Given the description of an element on the screen output the (x, y) to click on. 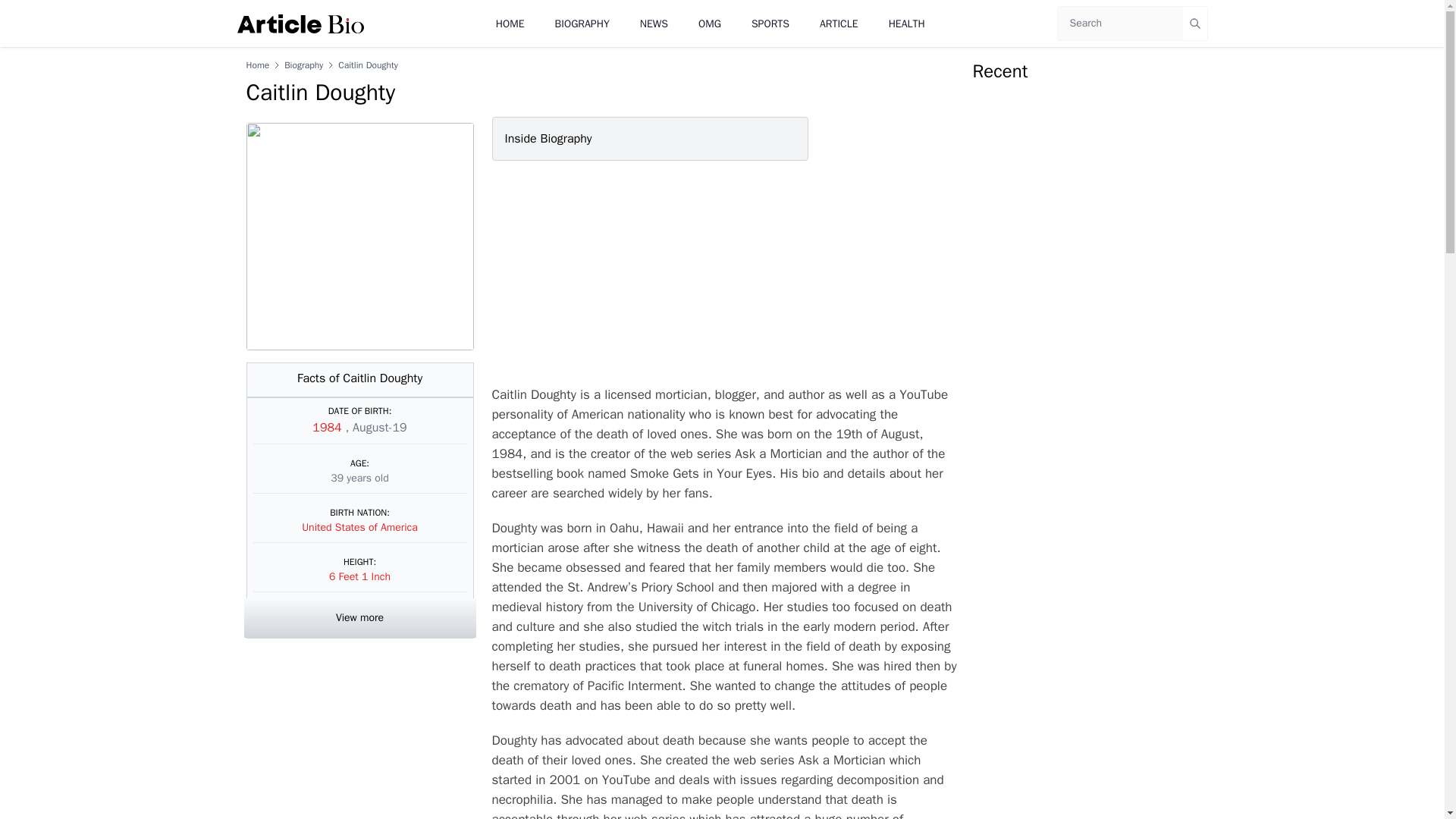
BIOGRAPHY (582, 23)
NEWS (654, 23)
August-19 (379, 427)
OMG (709, 23)
ARTICLE (839, 23)
HEALTH (906, 23)
Home (257, 64)
United States of America (359, 526)
SPORTS (770, 23)
Search (1195, 22)
1984 (329, 427)
Biography (303, 64)
HOME (510, 23)
6 Feet 1 Inch (359, 576)
